Given the description of an element on the screen output the (x, y) to click on. 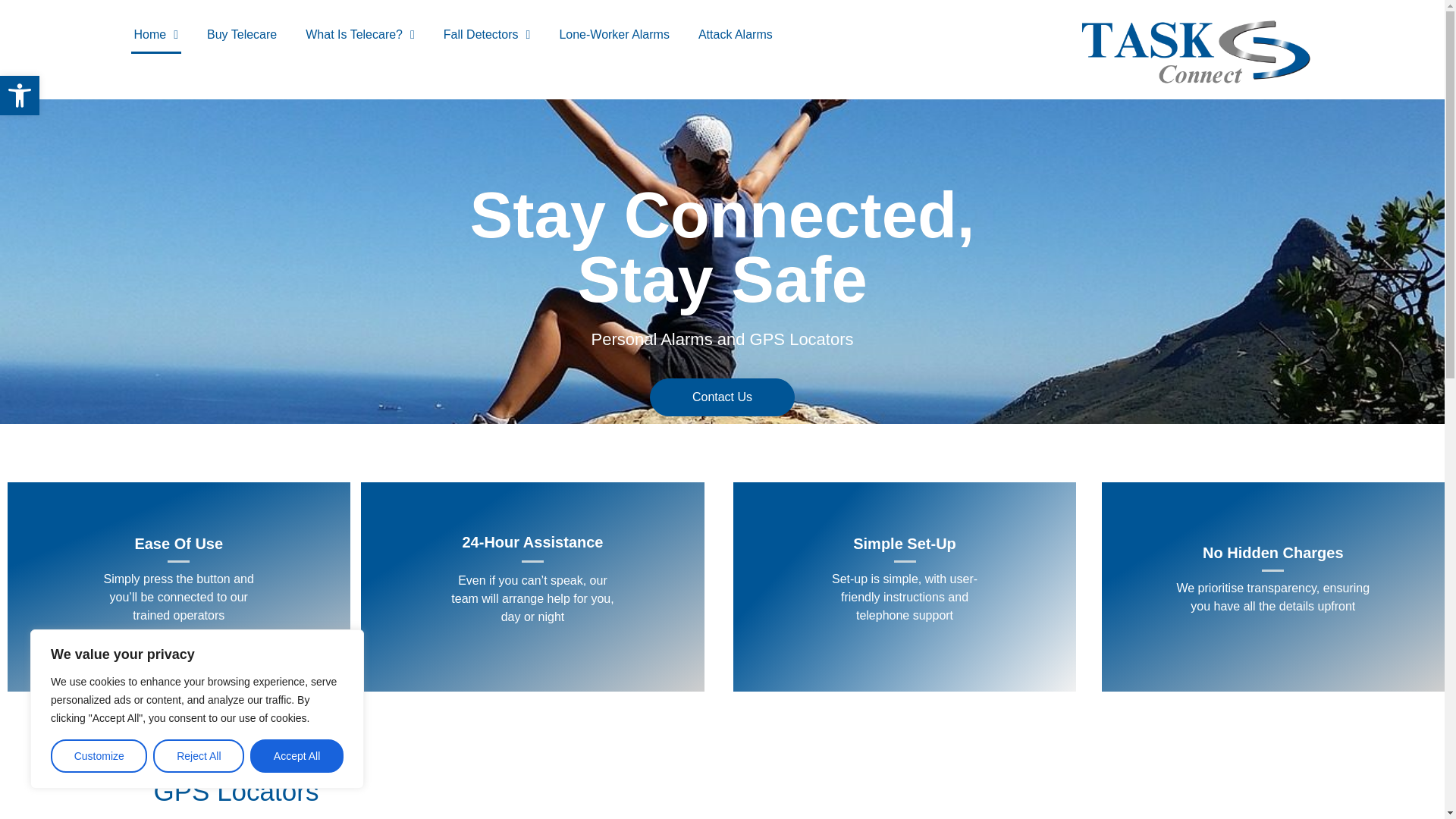
Accept All (296, 756)
Links Underline (19, 95)
Decrease Text (19, 95)
Readable Font (359, 34)
